Given the description of an element on the screen output the (x, y) to click on. 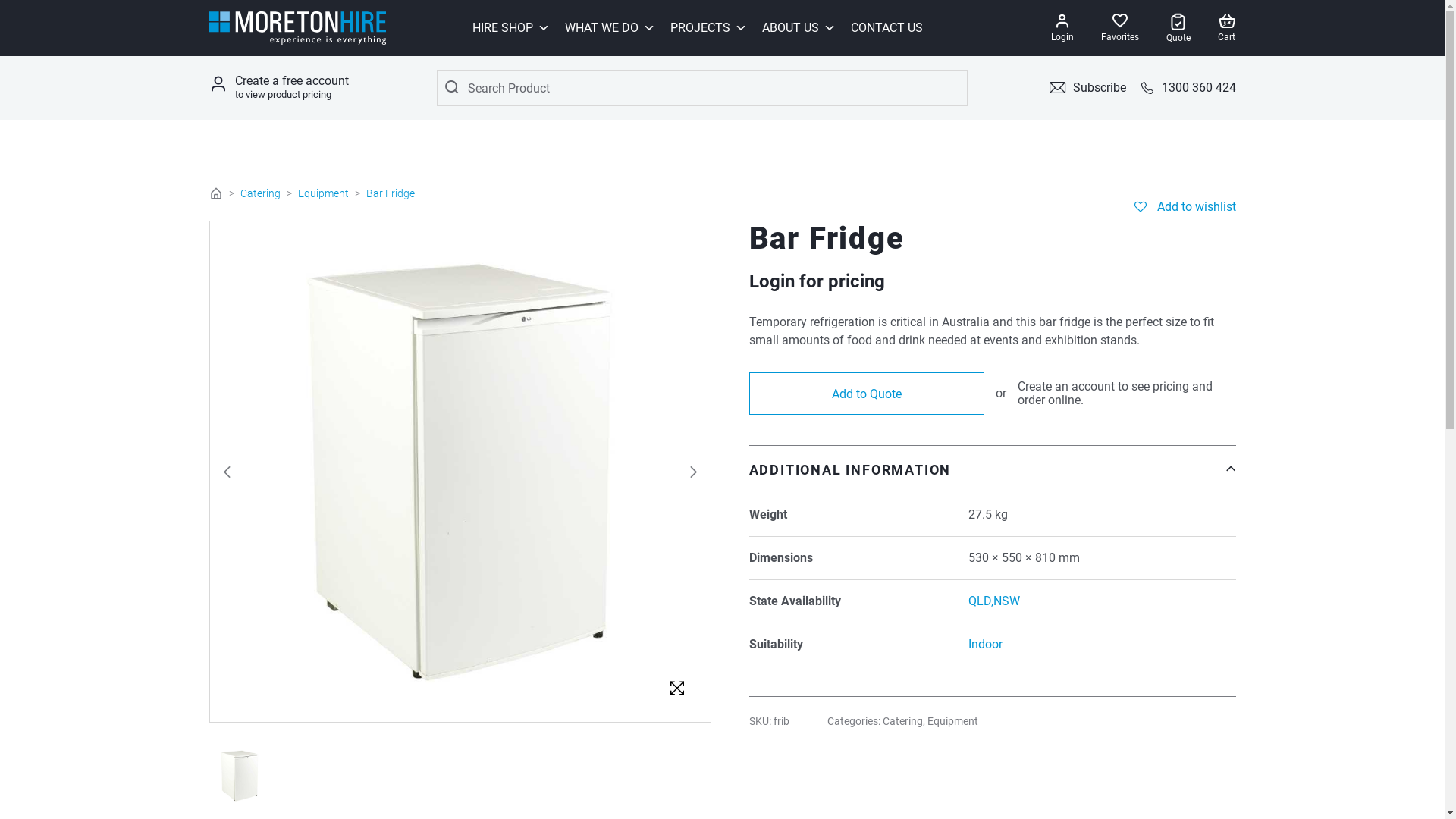
Add to Quote Element type: text (866, 393)
Create a free account
to view product pricing Element type: text (291, 87)
Create an account to see pricing and order online. Element type: text (1126, 393)
Indoor Element type: text (985, 644)
WHAT WE DO Element type: text (609, 28)
ABOUT US Element type: text (797, 28)
Quote Element type: text (1178, 28)
HIRE SHOP Element type: text (510, 28)
Bar Fridge Element type: hover (676, 688)
QLD,NSW Element type: text (993, 600)
Cart Element type: text (1226, 27)
1300 360 424 Element type: text (1187, 87)
Login Element type: text (1062, 27)
Favorites Element type: text (1120, 27)
Subscribe Element type: text (1087, 87)
Add to wishlist Element type: text (1185, 206)
Catering Element type: text (259, 193)
ADDITIONAL INFORMATION Element type: text (992, 469)
Equipment Element type: text (322, 193)
Catering Element type: text (902, 721)
Search for: Element type: hover (701, 87)
CONTACT US Element type: text (886, 28)
PROJECTS Element type: text (708, 28)
Equipment Element type: text (951, 721)
